Given the description of an element on the screen output the (x, y) to click on. 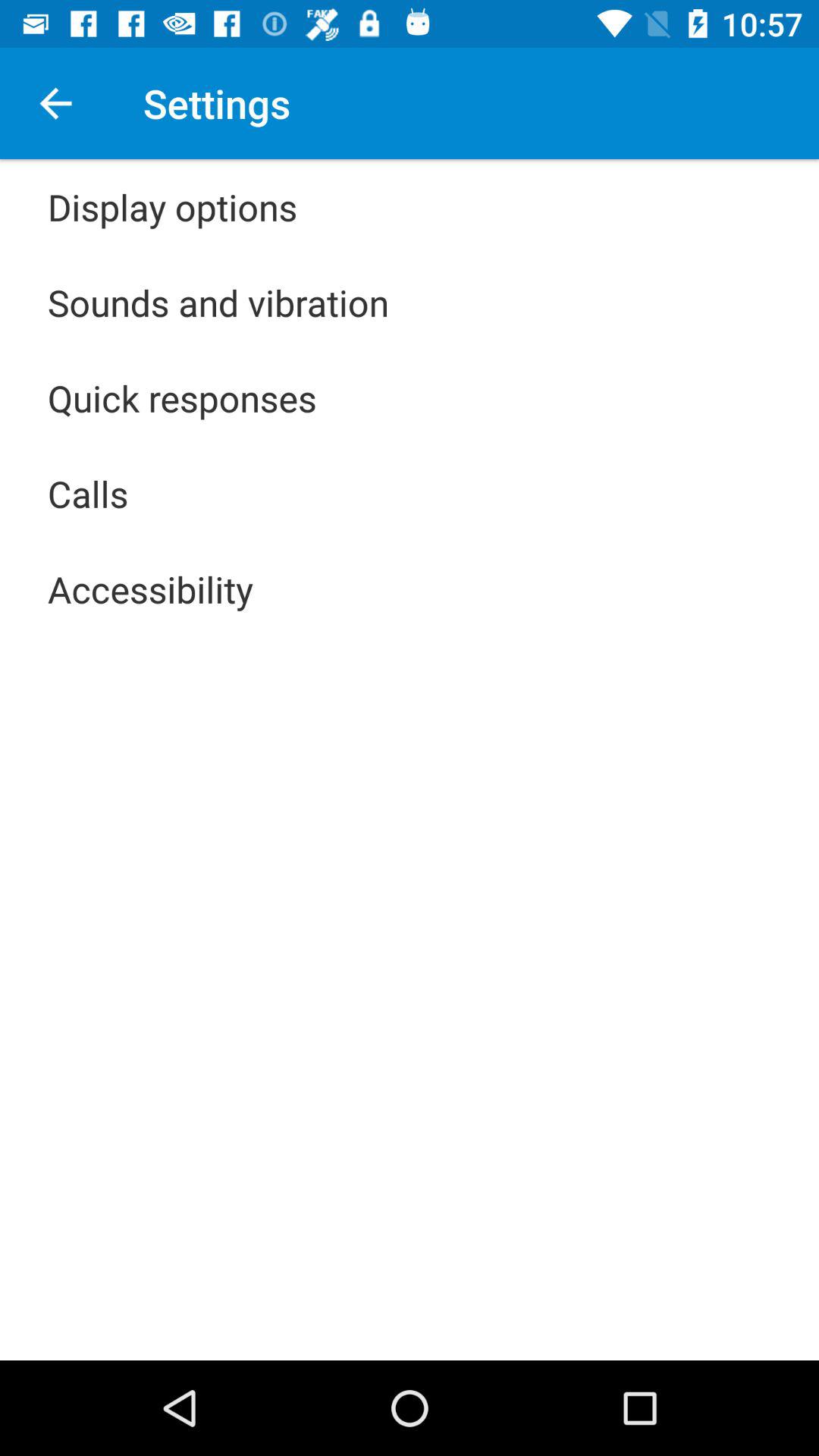
choose the app to the left of the settings app (55, 103)
